Given the description of an element on the screen output the (x, y) to click on. 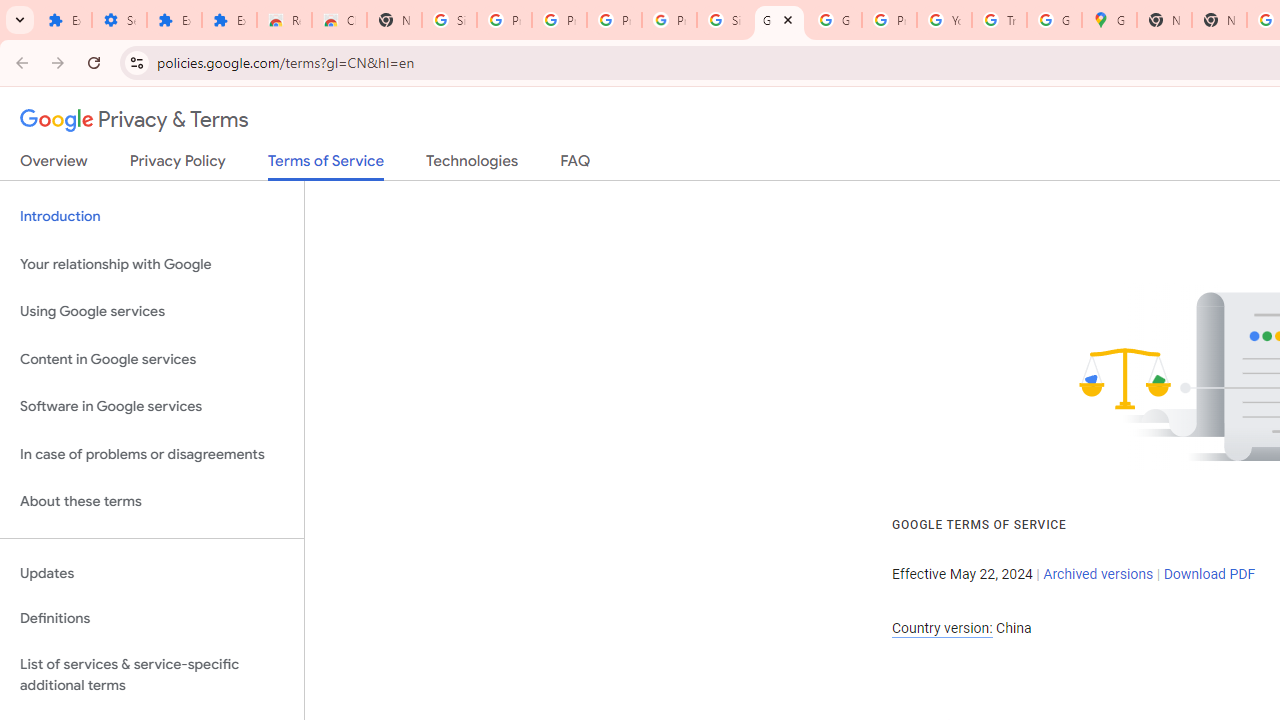
Introduction (152, 216)
Software in Google services (152, 407)
